Given the description of an element on the screen output the (x, y) to click on. 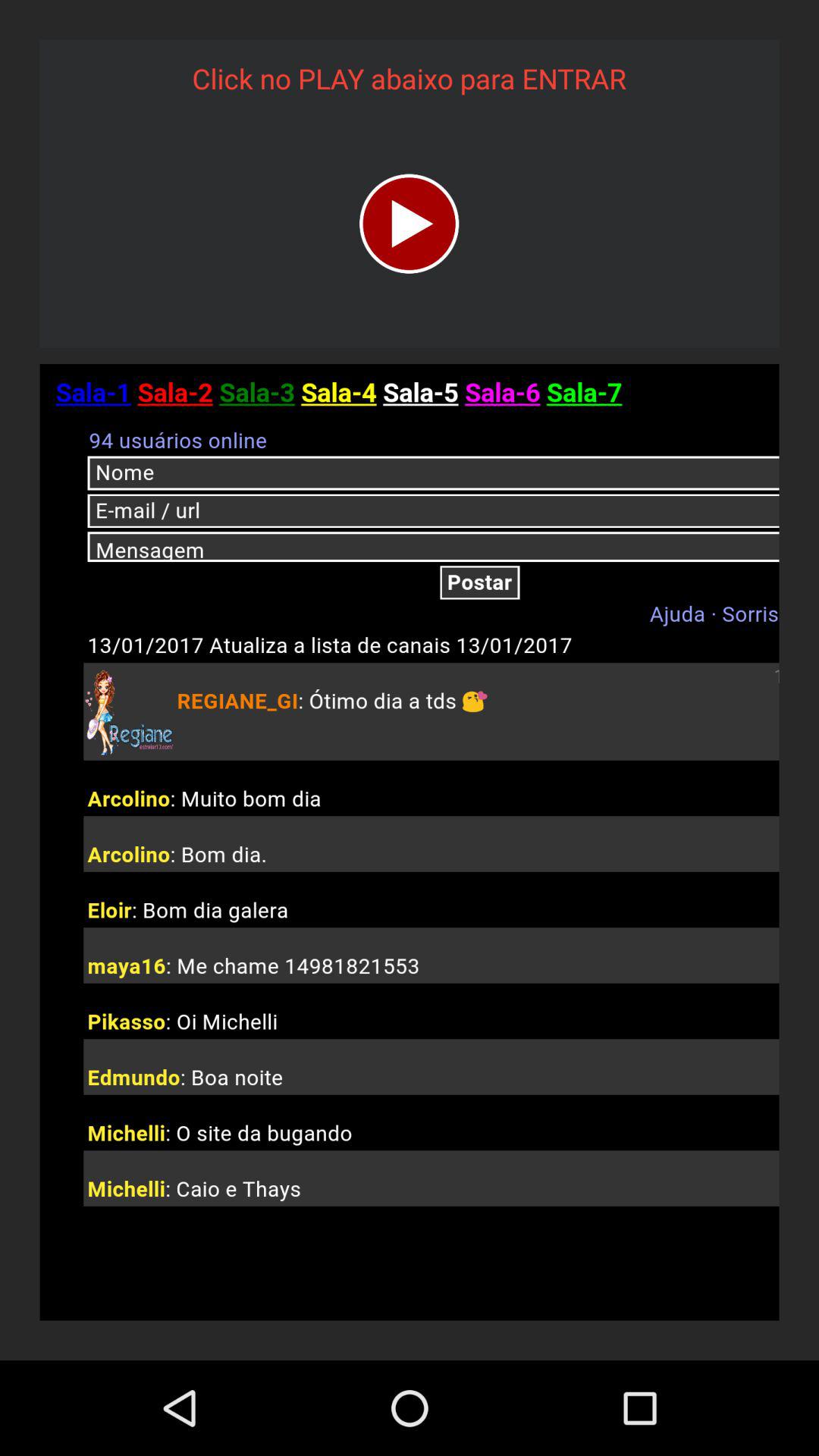
the elemet is meant to connote an action be carried out (408, 223)
